Given the description of an element on the screen output the (x, y) to click on. 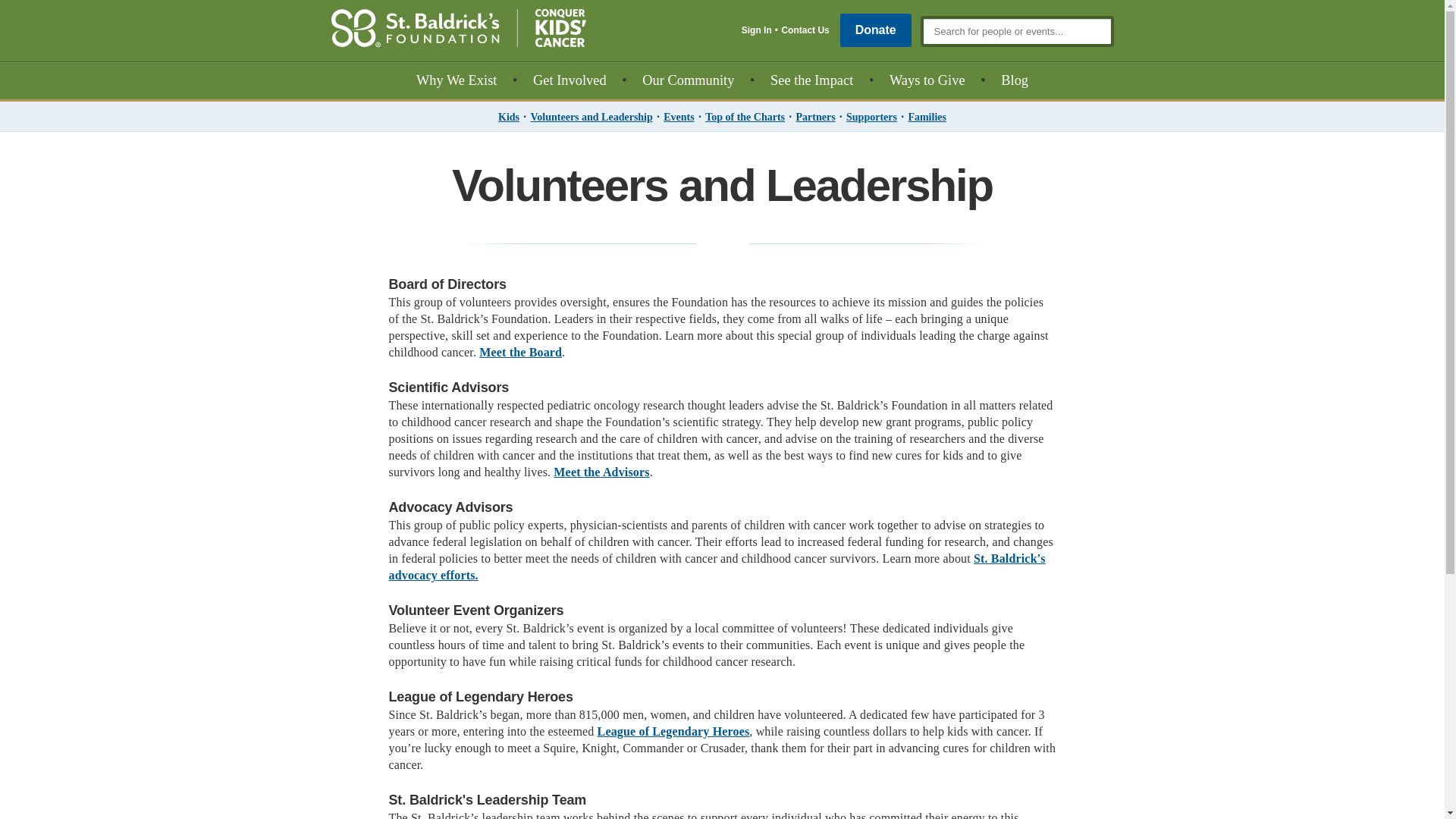
Get Involved (569, 80)
See the Impact (811, 80)
Volunteers and Leadership (590, 116)
Ways to Give (926, 80)
Contact Us (804, 29)
Events (678, 116)
Blog (1014, 80)
Donate (875, 29)
Why We Exist (456, 80)
Partners (815, 116)
